Given the description of an element on the screen output the (x, y) to click on. 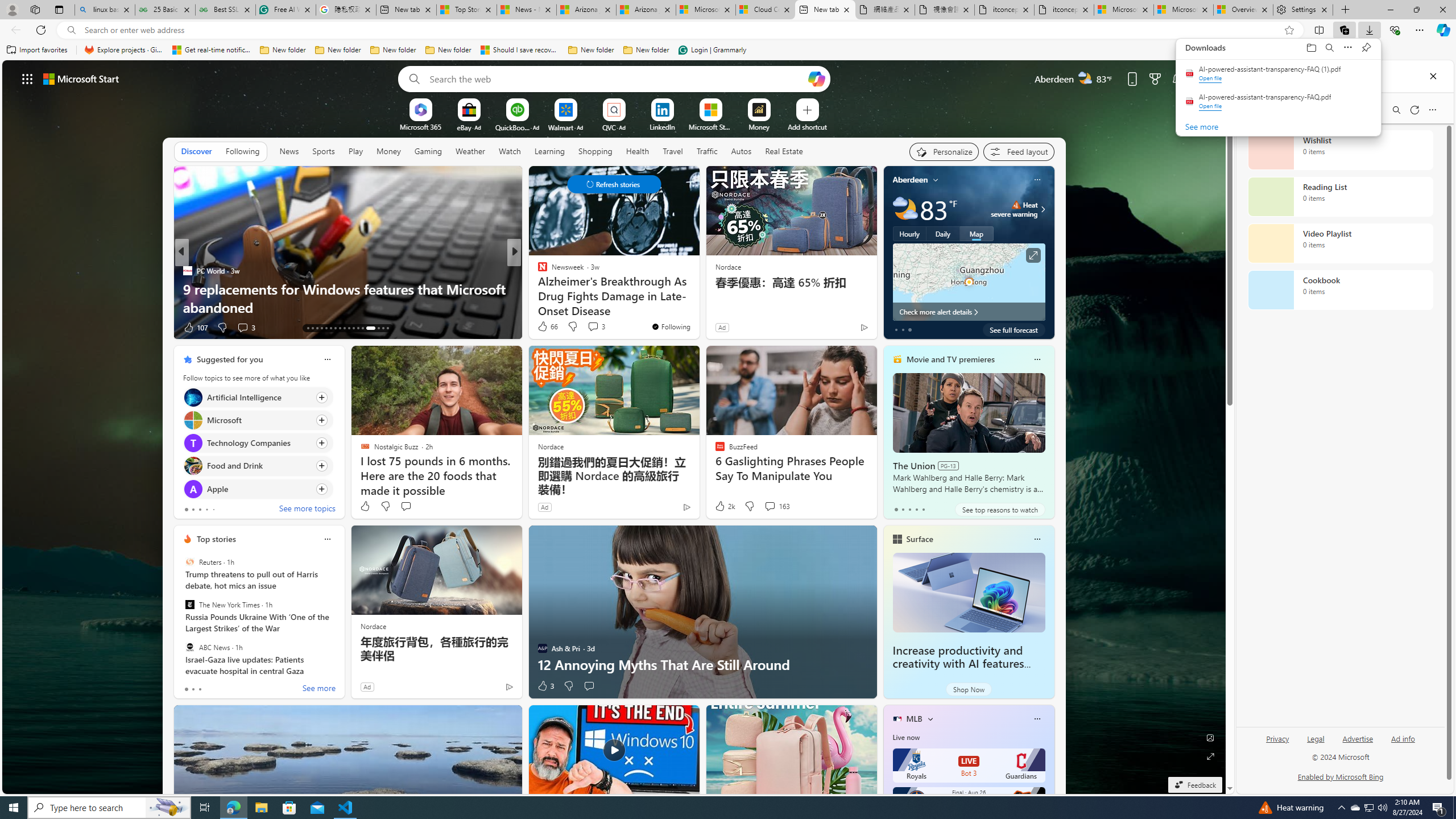
AutomationID: tab-14 (312, 328)
Surface (919, 538)
Weather (470, 151)
See top reasons to watch (999, 509)
Create new collection (1293, 106)
Real Estate (783, 151)
Click to follow topic Apple (257, 488)
tab-2 (199, 689)
Class: control (613, 184)
Royals LIVE Bot 3 Guardians (968, 765)
